Given the description of an element on the screen output the (x, y) to click on. 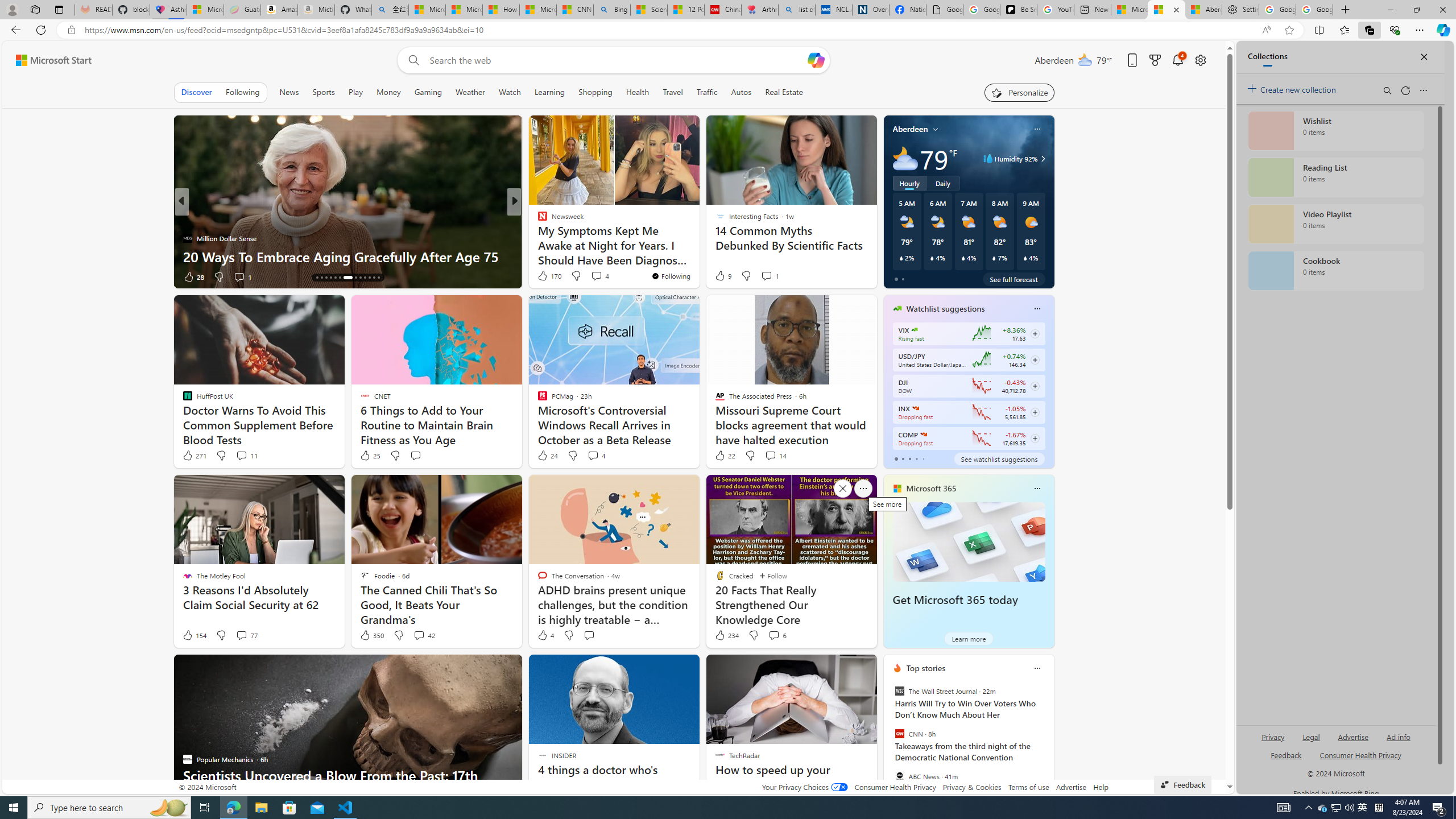
ABC News (898, 775)
AutomationID: tab-20 (344, 277)
previous (888, 741)
My location (936, 128)
Popular Mechanics (537, 219)
Get Microsoft 365 today (954, 600)
You're following Newsweek (670, 275)
AutomationID: tab-18 (335, 277)
